Given the description of an element on the screen output the (x, y) to click on. 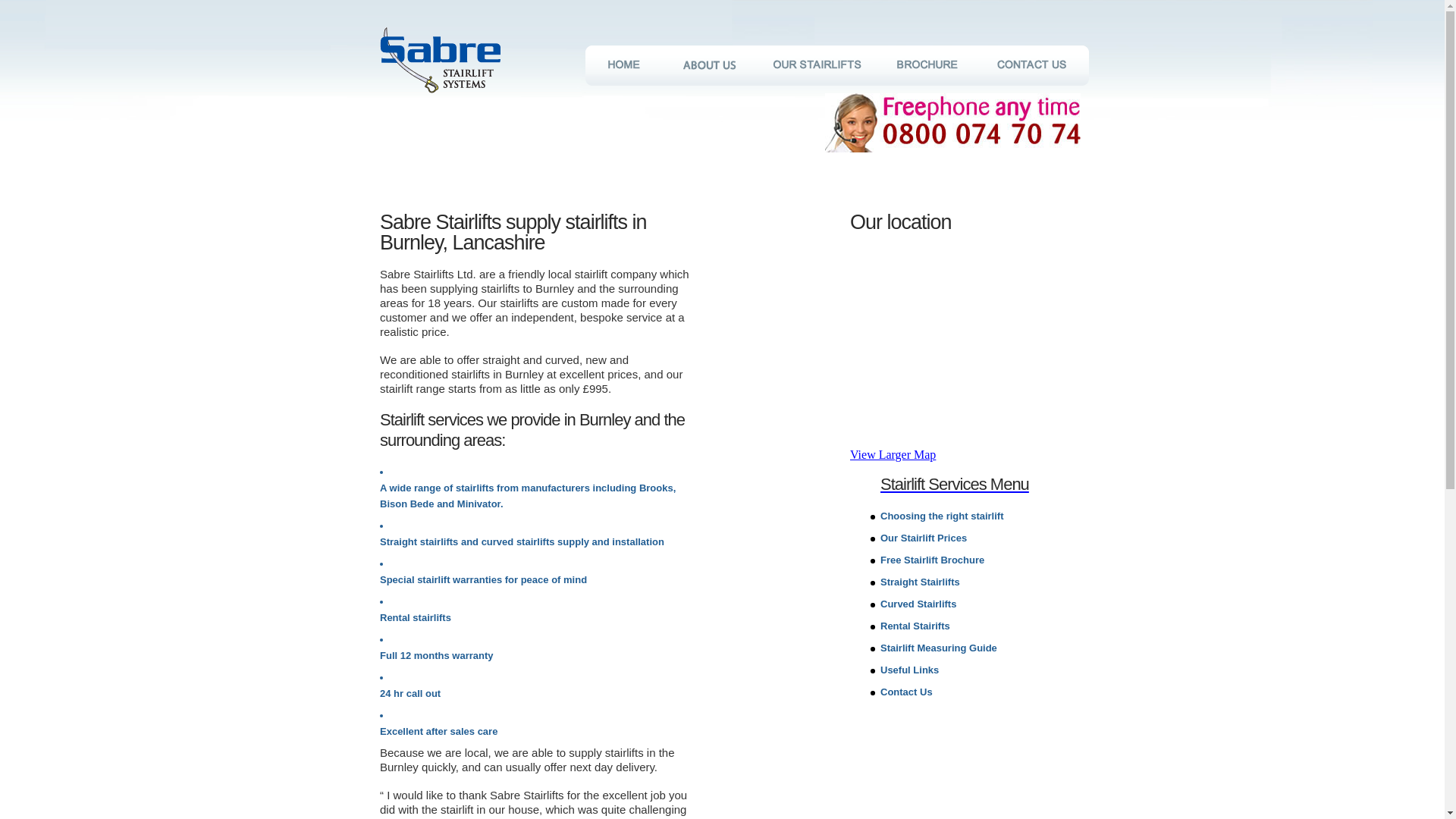
Rental Stairifts (915, 625)
Choosing the right stairlift (942, 515)
Bison Bede (406, 503)
Straight stairlifts (419, 541)
Stairlift Services Menu (992, 484)
Stairlift Measuring Guide (938, 647)
curved stairlifts (519, 541)
View Larger Map (977, 454)
Curved Stairlifts (918, 603)
Minivator. (480, 503)
Rental stairlifts (415, 617)
Contact Us (906, 691)
Full 12 months warranty (436, 655)
Brooks (655, 487)
Our Stairlift Prices (923, 537)
